Given the description of an element on the screen output the (x, y) to click on. 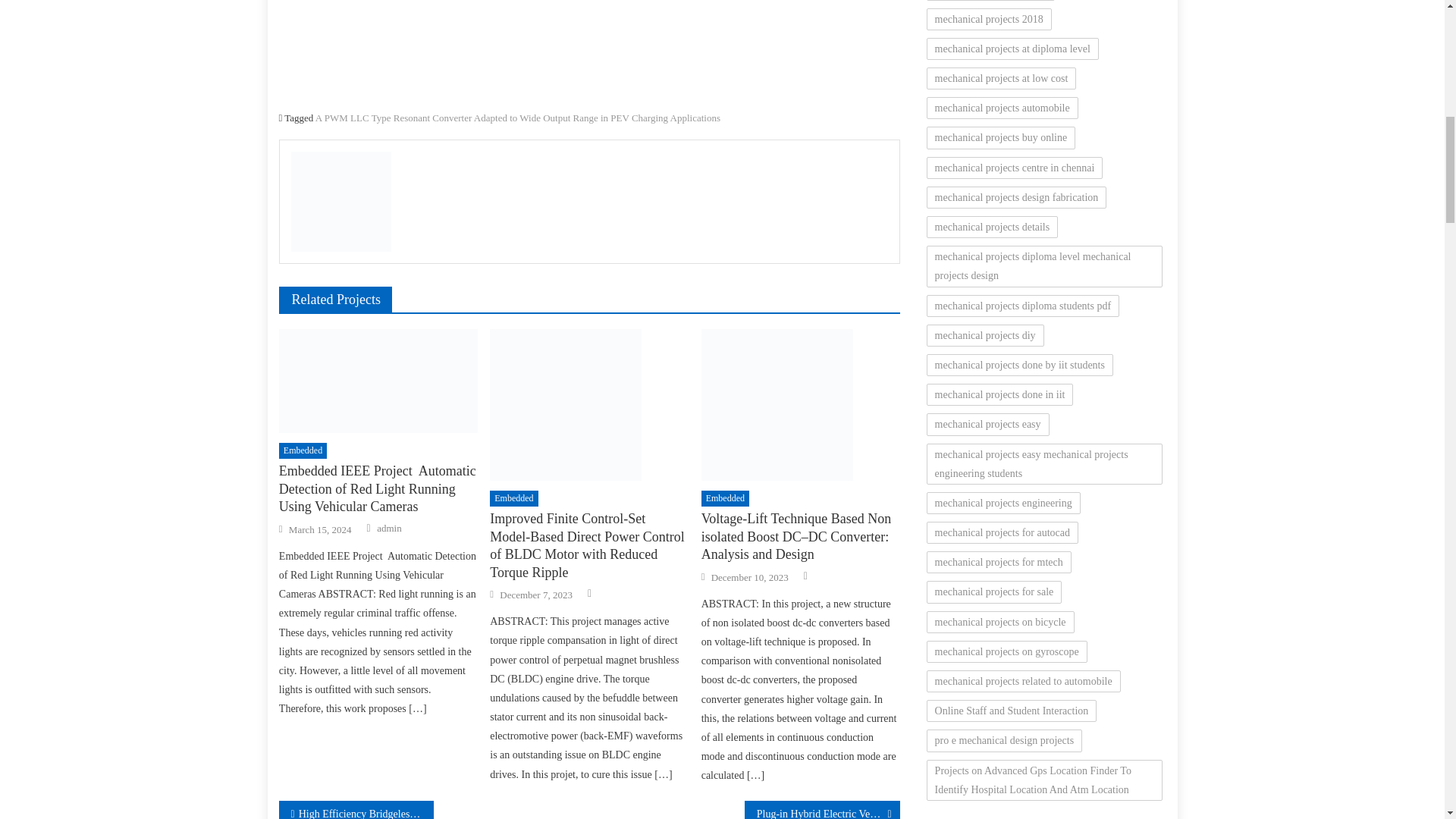
Advertisement (589, 50)
